Given the description of an element on the screen output the (x, y) to click on. 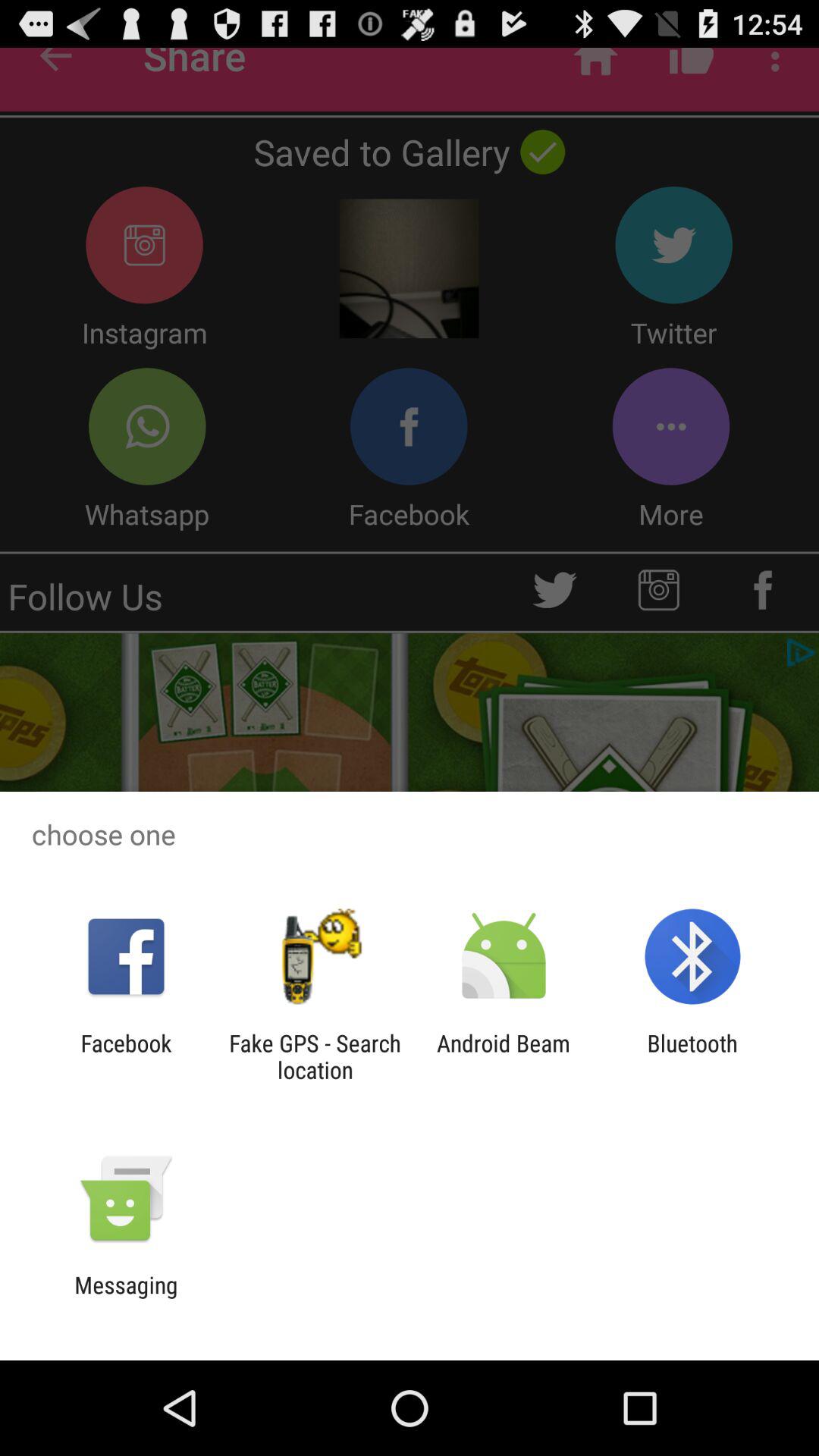
scroll to fake gps search (314, 1056)
